Given the description of an element on the screen output the (x, y) to click on. 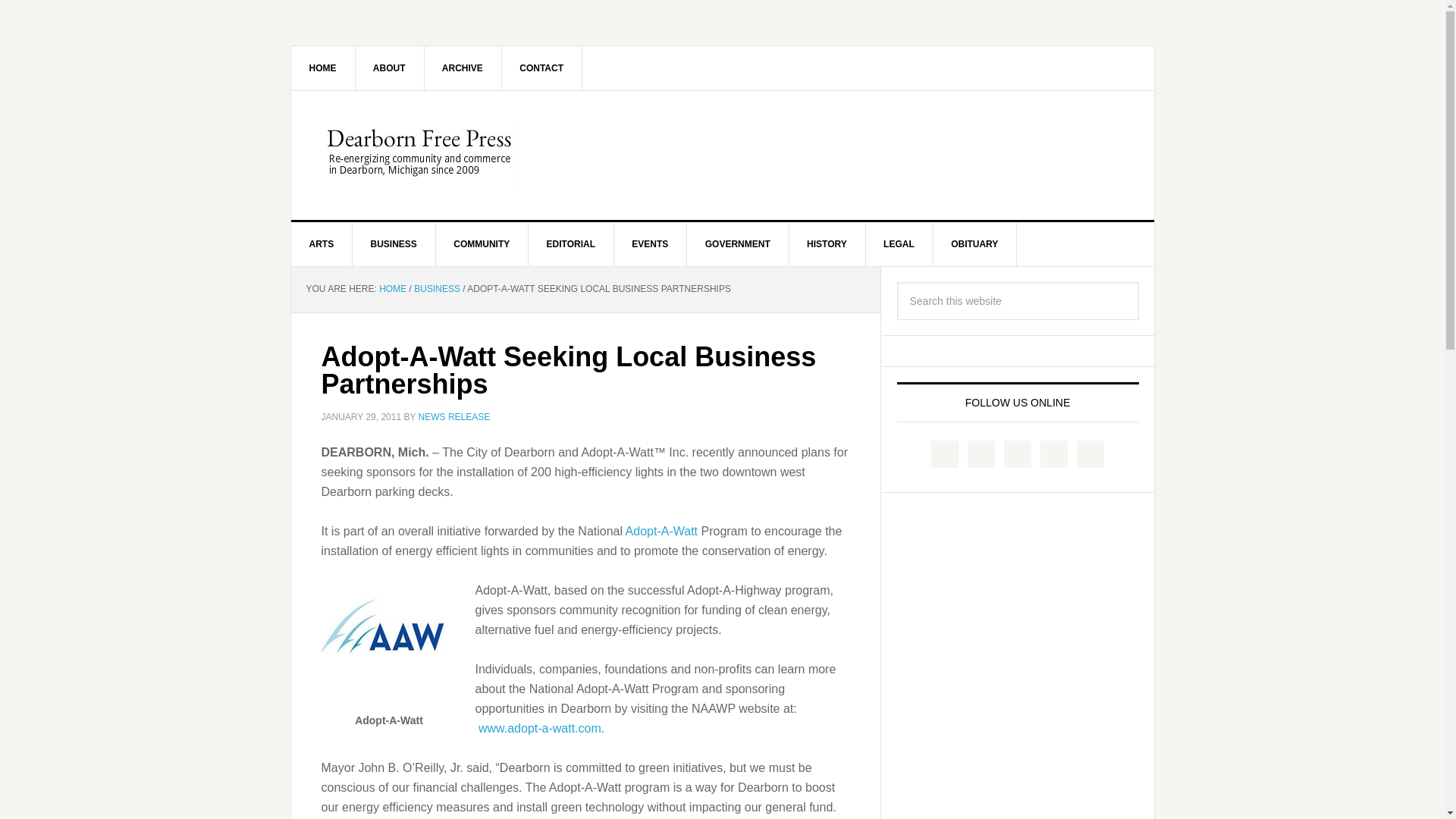
OBITUARY (974, 243)
EDITORIAL (571, 243)
HOME (392, 288)
HOME (323, 67)
adopt-a-watt (385, 644)
Contact the Dearborn Free Press (541, 67)
EVENTS (649, 243)
HISTORY (827, 243)
CONTACT (541, 67)
DEARBORN FREE PRESS (419, 155)
ABOUT (390, 67)
www.adopt-a-watt.com (540, 727)
NEWS RELEASE (454, 416)
